Given the description of an element on the screen output the (x, y) to click on. 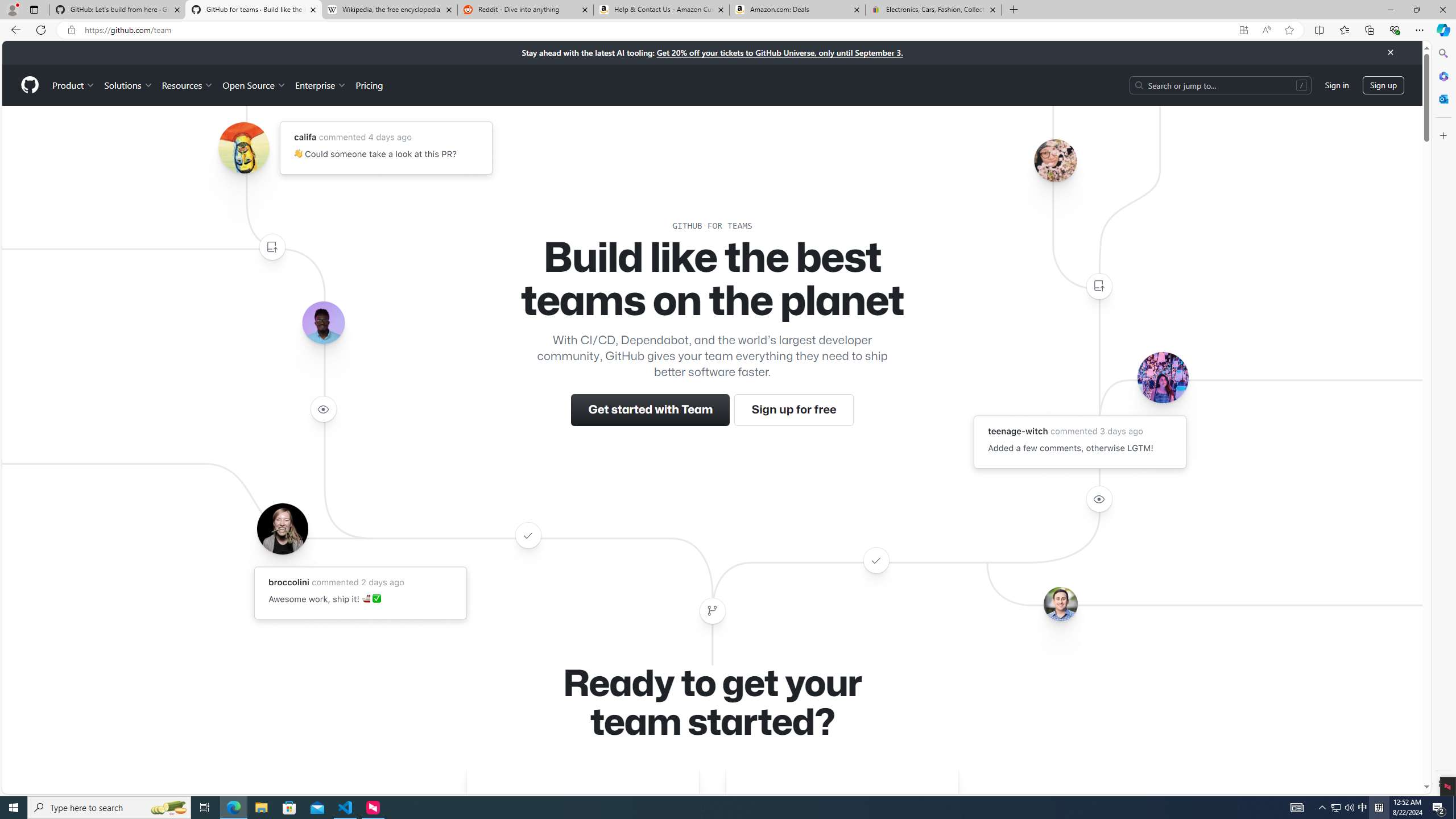
Open Source (254, 84)
Avatar of the user broccolini (282, 528)
Avatar of the user califa (243, 147)
Sign up (1382, 84)
Avatar of the user lerebear (323, 322)
Enterprise (319, 84)
Product (74, 84)
